Given the description of an element on the screen output the (x, y) to click on. 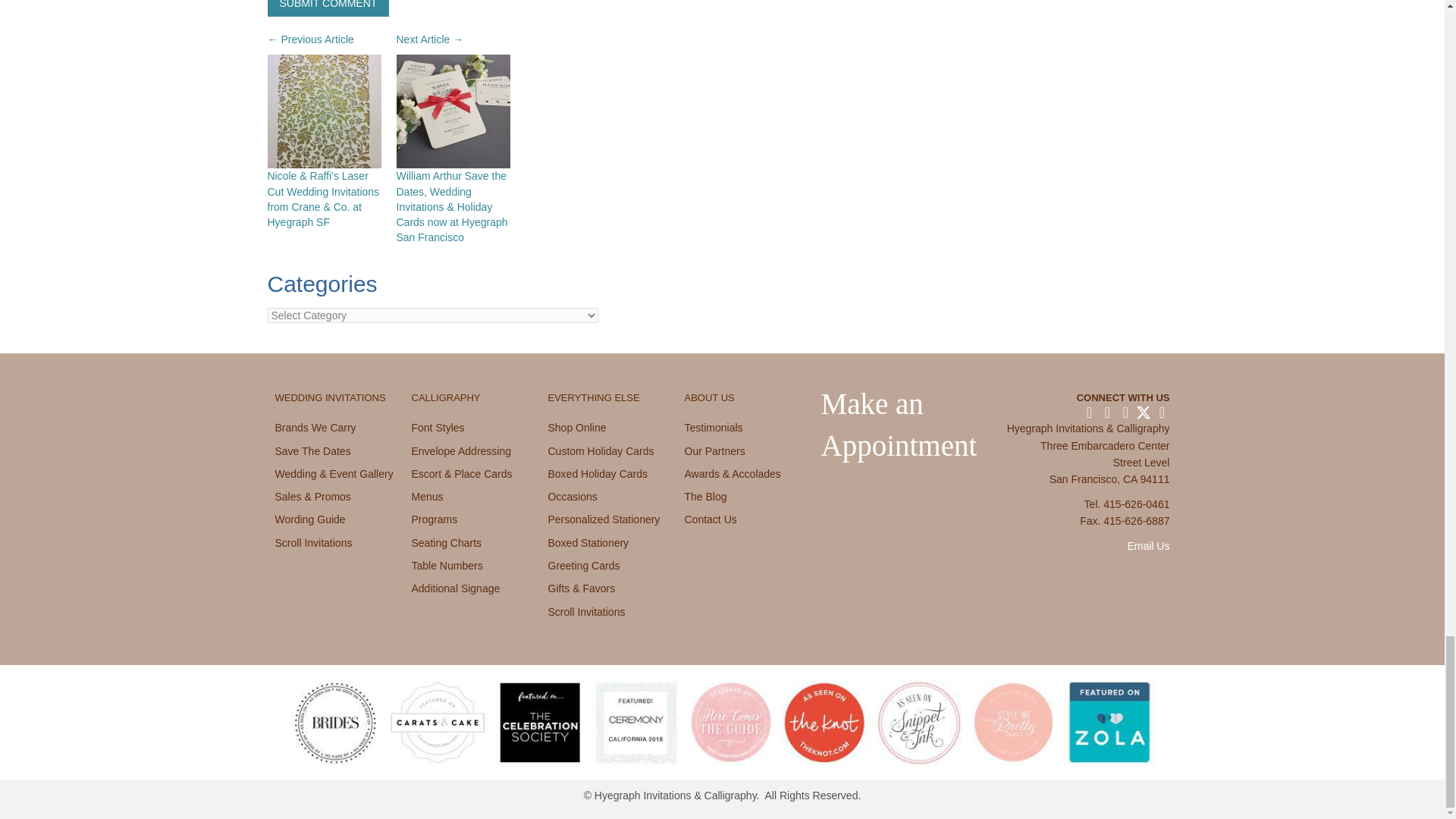
EVERYTHING ELSE (593, 397)
Pinterest (1125, 412)
Submit Comment (327, 8)
CALLIGRAPHY (445, 397)
WEDDING INVITATIONS (330, 397)
ABOUT US (708, 397)
Instagram (1107, 412)
Facebook (1088, 412)
Make an Appointment (898, 424)
